Given the description of an element on the screen output the (x, y) to click on. 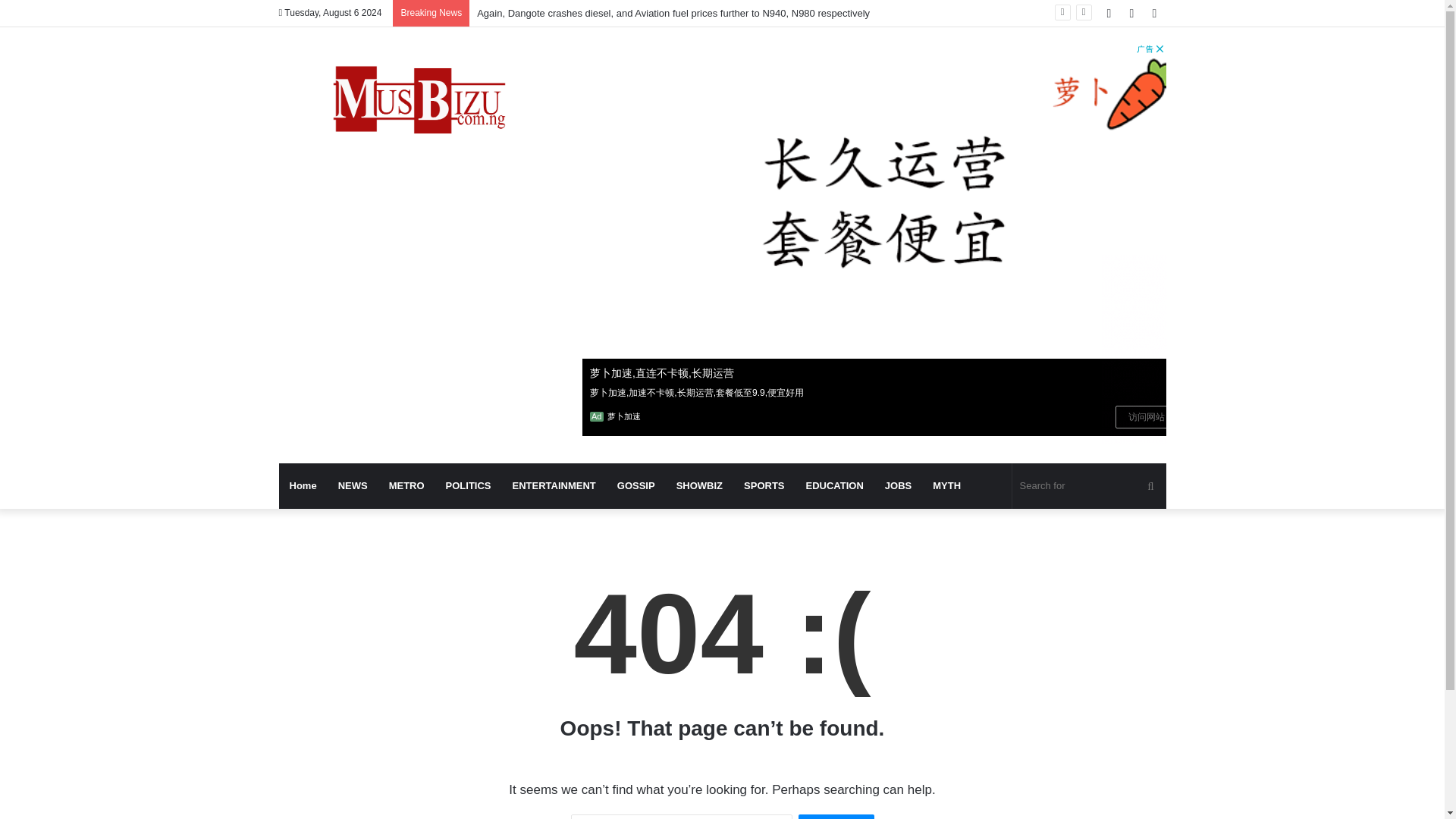
Musbizu (419, 103)
SPORTS (763, 485)
Search (835, 816)
SHOWBIZ (699, 485)
Search for (1088, 485)
GOSSIP (636, 485)
Search (835, 816)
POLITICS (468, 485)
